Given the description of an element on the screen output the (x, y) to click on. 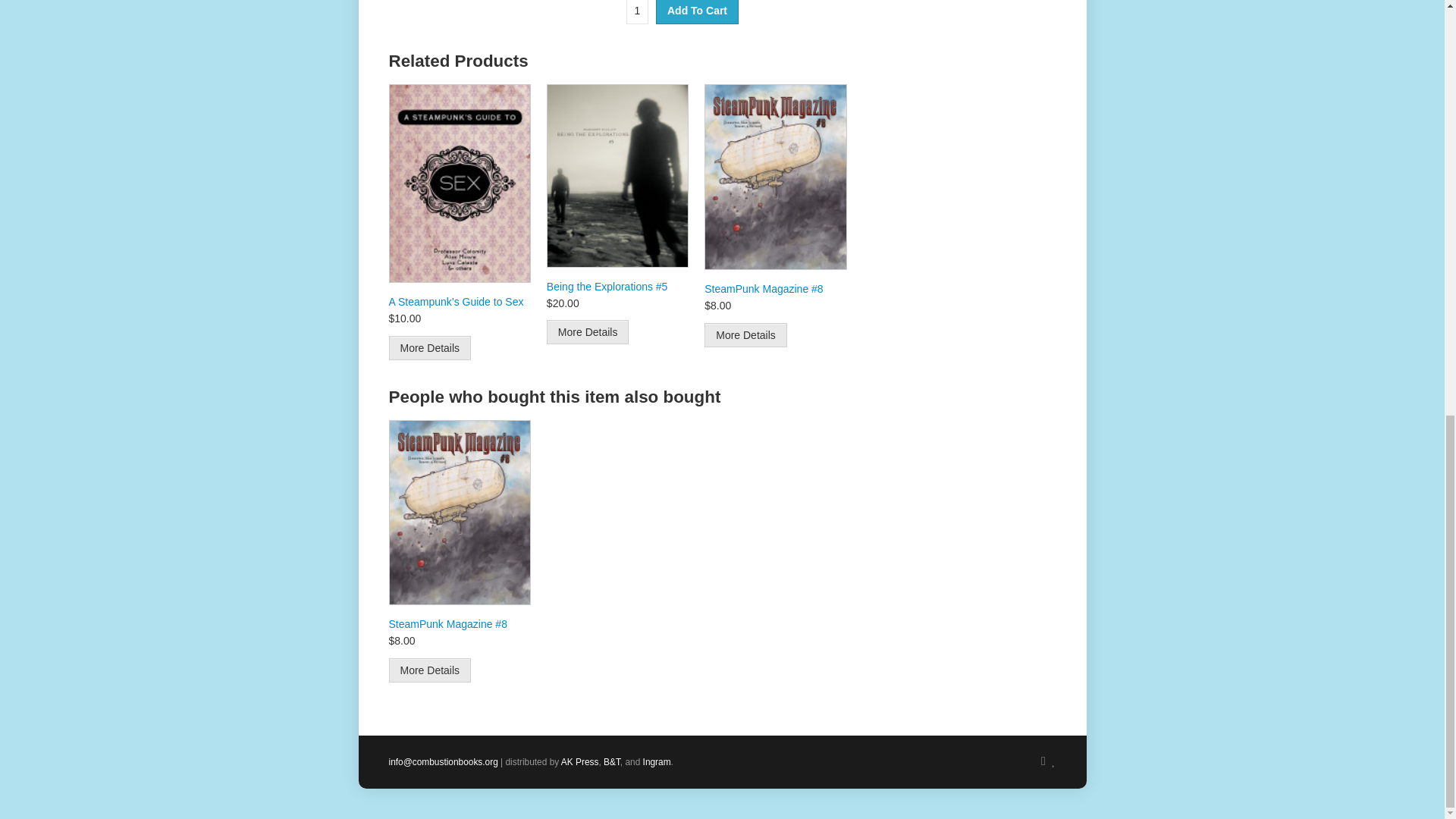
1 (636, 12)
More Details (429, 670)
More Details (587, 331)
More Details (745, 334)
Add To Cart (697, 12)
Add To Cart (697, 12)
More Details (429, 346)
